Given the description of an element on the screen output the (x, y) to click on. 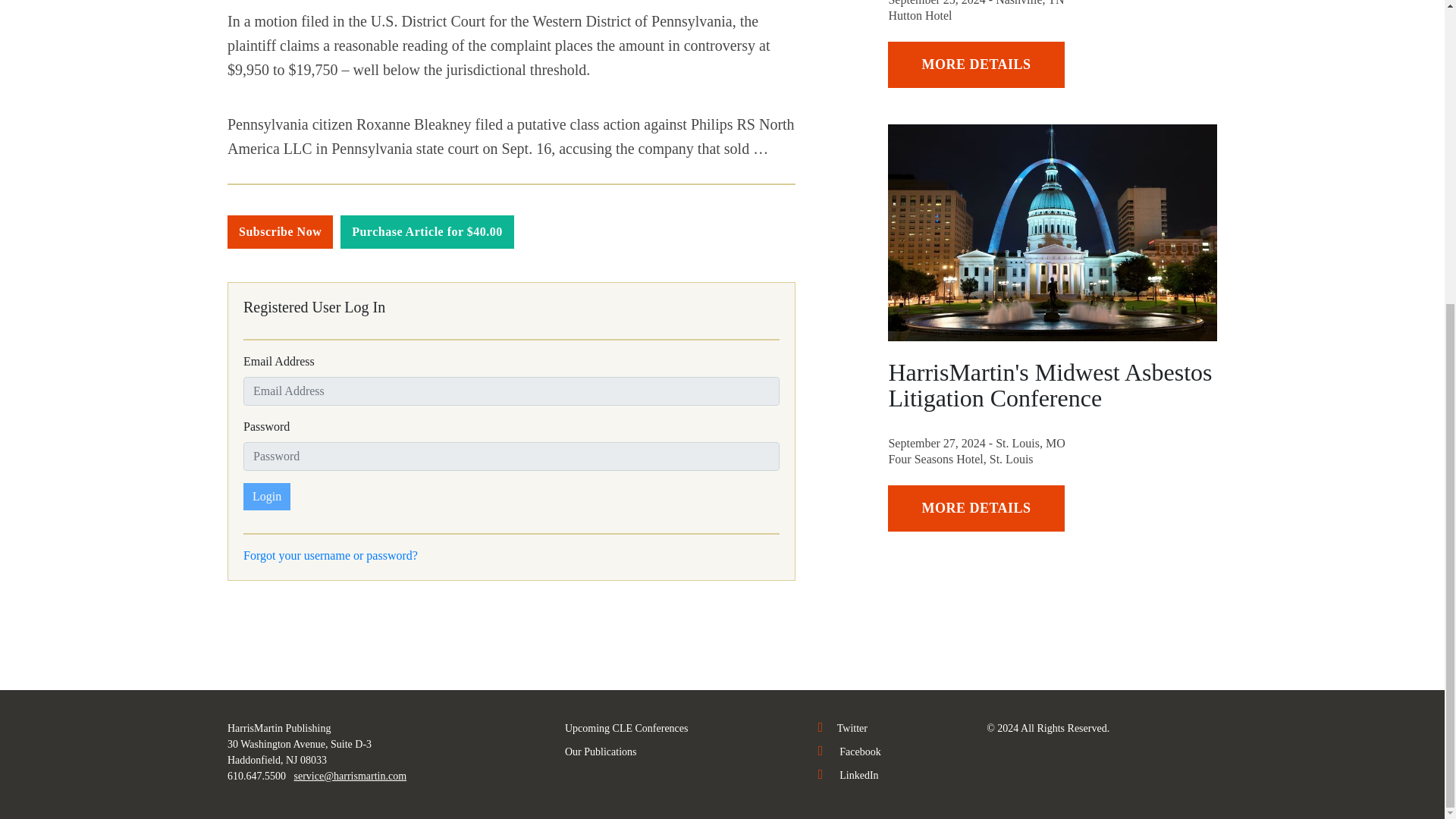
Subscribe Now (280, 231)
Twitter (842, 727)
Facebook (849, 751)
Forgot your username or password? (330, 554)
LinkedIn (848, 775)
Upcoming CLE Conferences (626, 727)
Login (266, 496)
MORE DETAILS (976, 508)
Our Publications (600, 751)
MORE DETAILS (976, 64)
